Given the description of an element on the screen output the (x, y) to click on. 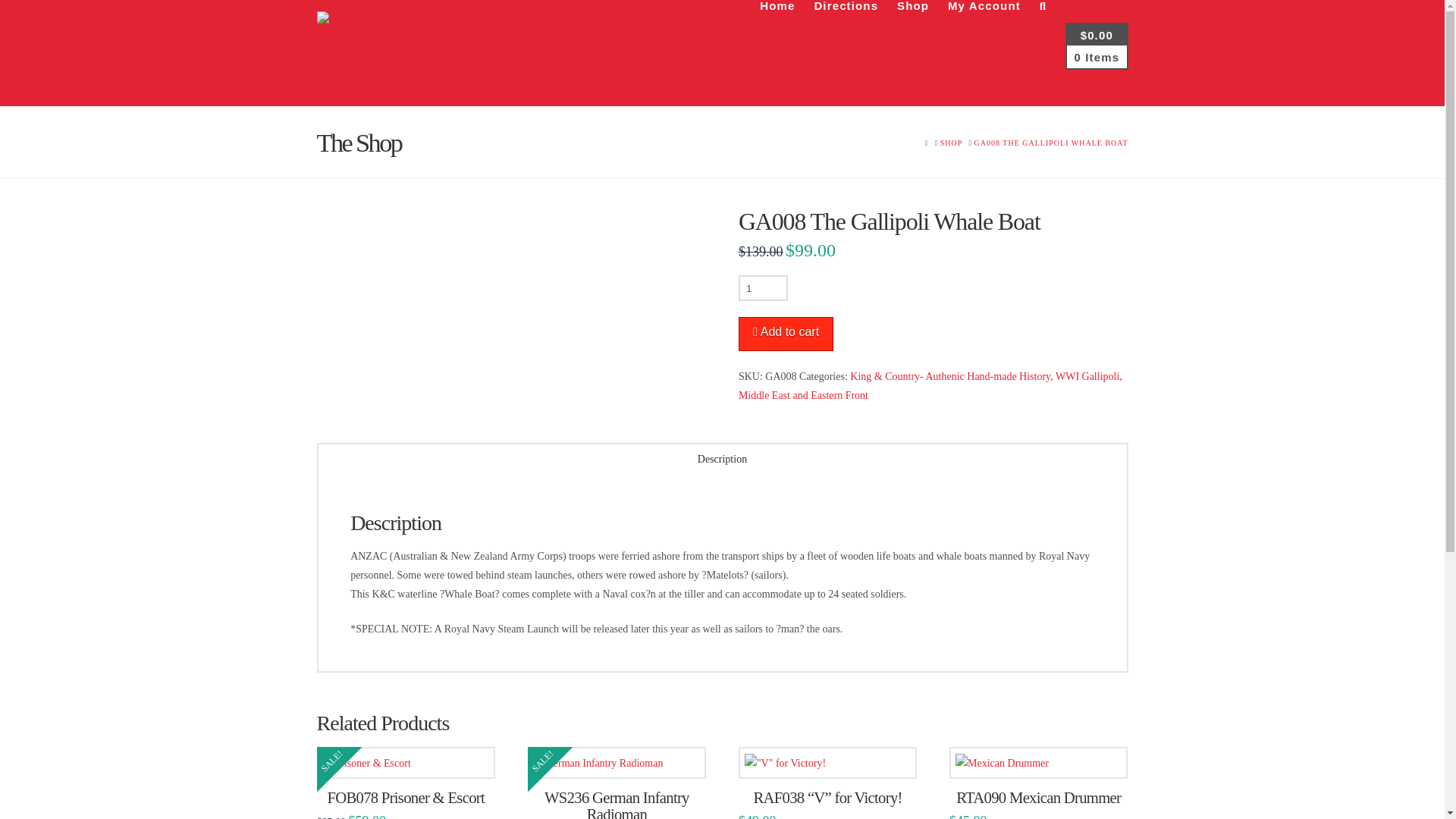
WS236 German Infantry Radioman (616, 804)
GA008 THE GALLIPOLI WHALE BOAT (1051, 143)
SHOP (951, 143)
Description (722, 460)
Add to cart (785, 333)
You Are Here (1051, 143)
RTA090 Mexican Drummer (1038, 797)
1 (762, 288)
WWI Gallipoli, Middle East and Eastern Front (930, 386)
